Given the description of an element on the screen output the (x, y) to click on. 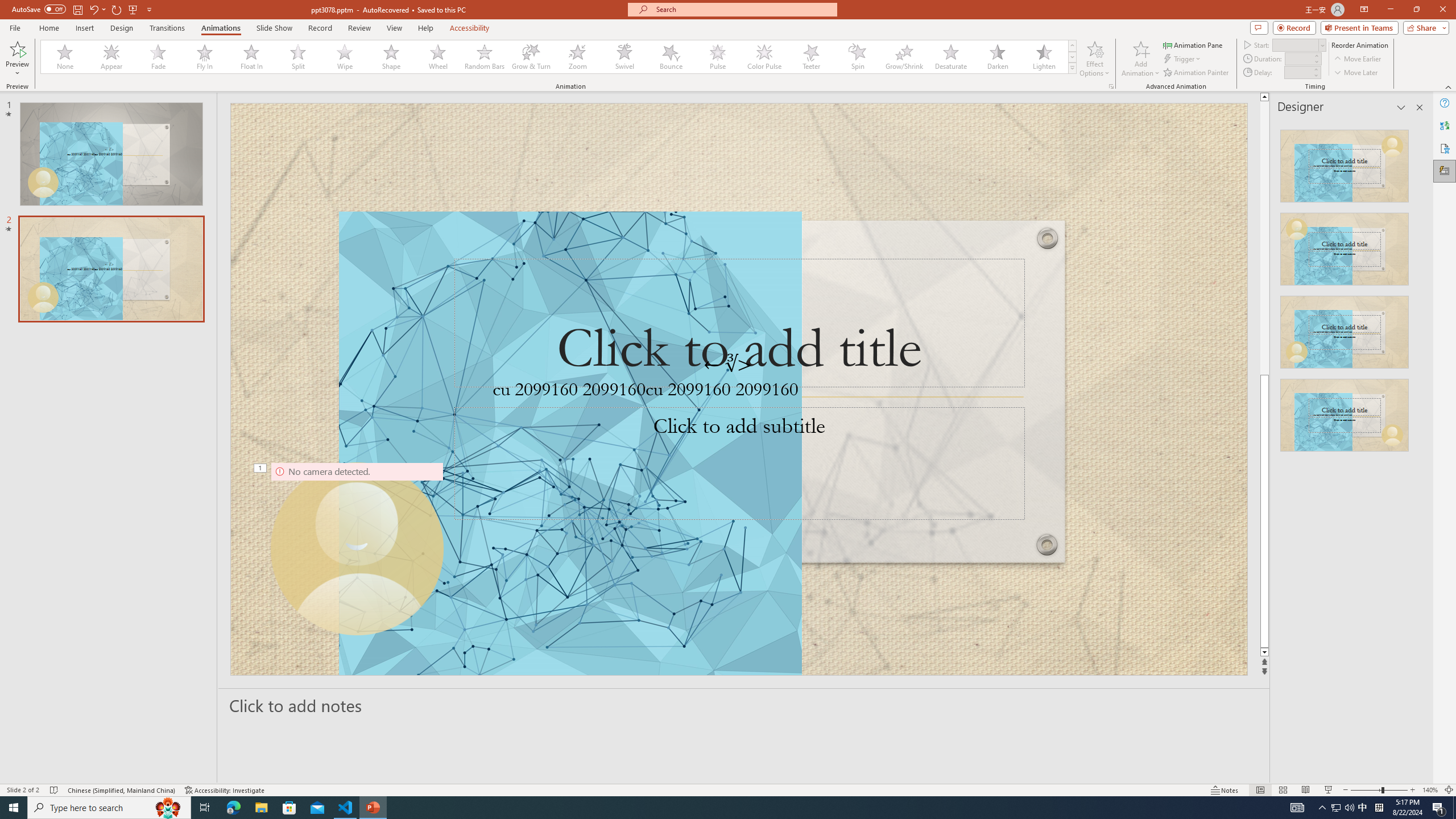
Move Earlier (1357, 58)
Fly In (205, 56)
Desaturate (950, 56)
Animation Pane (1193, 44)
Color Pulse (764, 56)
